Given the description of an element on the screen output the (x, y) to click on. 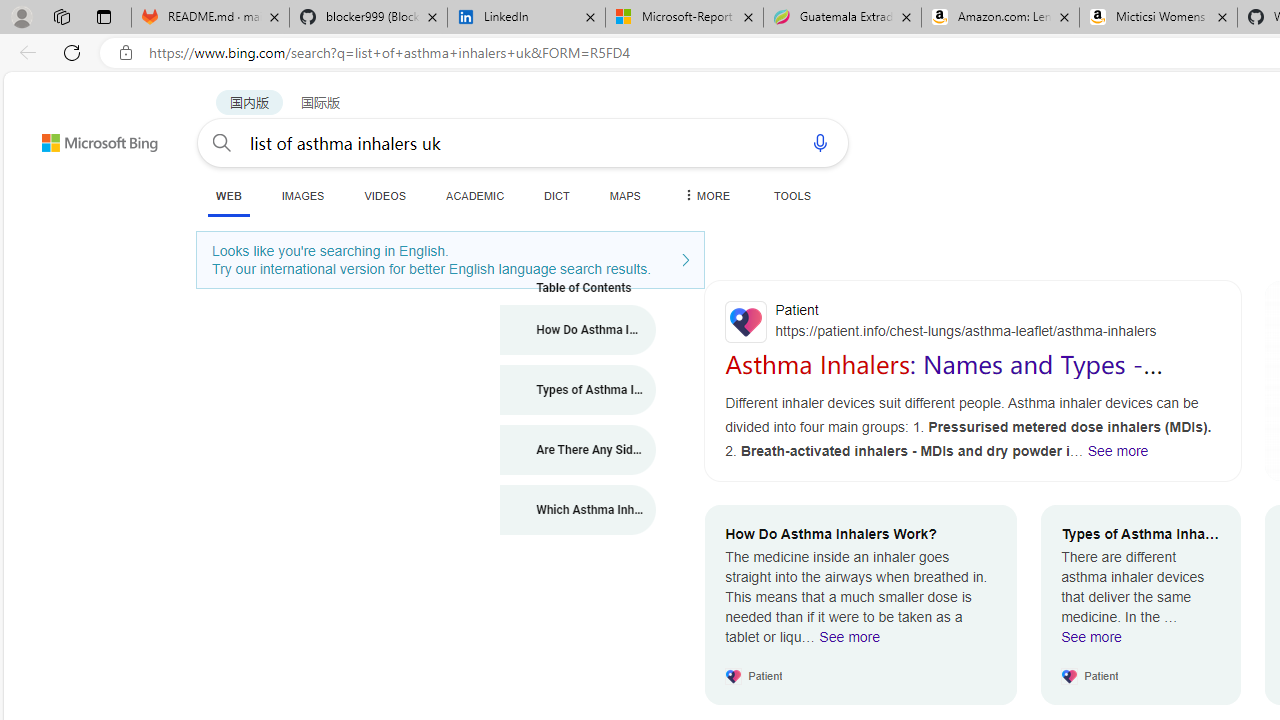
WEB (228, 195)
DICT (557, 195)
WEB (228, 196)
Are There Any Side-Effects from Asthma Inhalers? (578, 449)
MAPS (624, 195)
Which Asthma Inhaler Device Should I use? (578, 509)
MORE (705, 195)
Patient (973, 321)
Asthma Inhalers: Names and Types - Patient (943, 378)
